Given the description of an element on the screen output the (x, y) to click on. 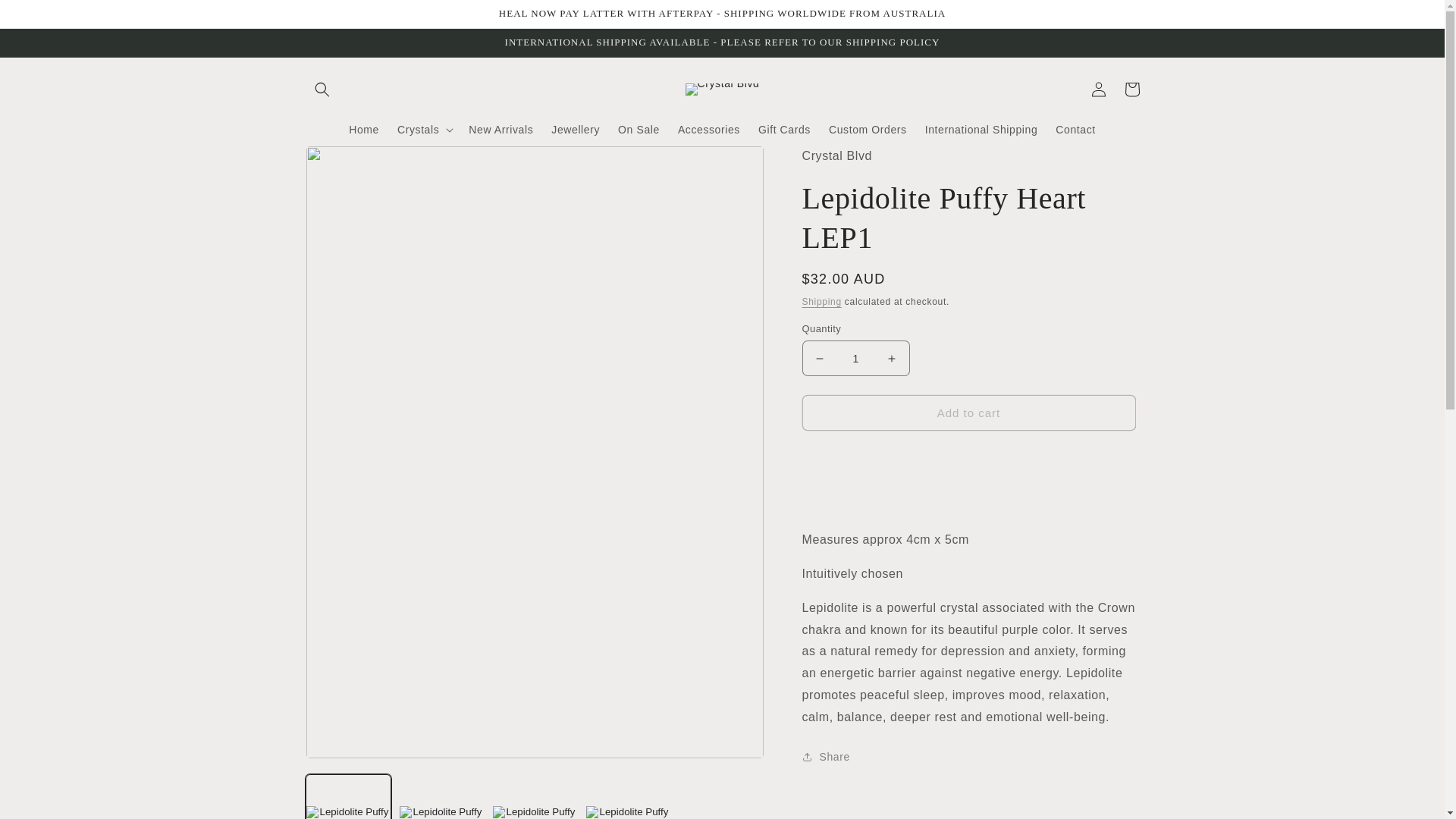
Skip to content (45, 17)
Home (363, 129)
1 (856, 357)
